Given the description of an element on the screen output the (x, y) to click on. 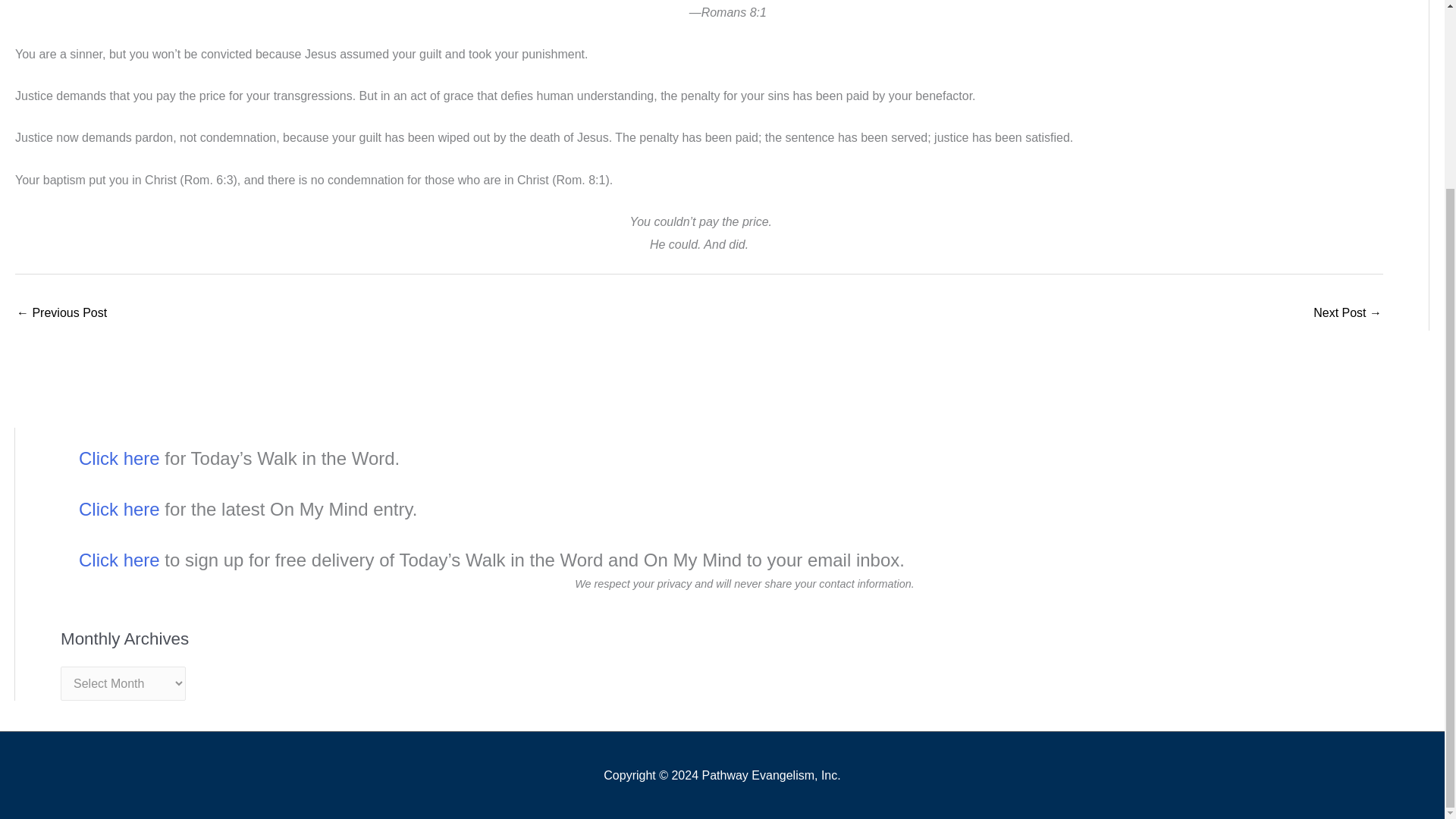
He Took Our Place (61, 314)
Click here (119, 457)
Click here (119, 559)
Peace (1347, 314)
Click here (119, 508)
